Given the description of an element on the screen output the (x, y) to click on. 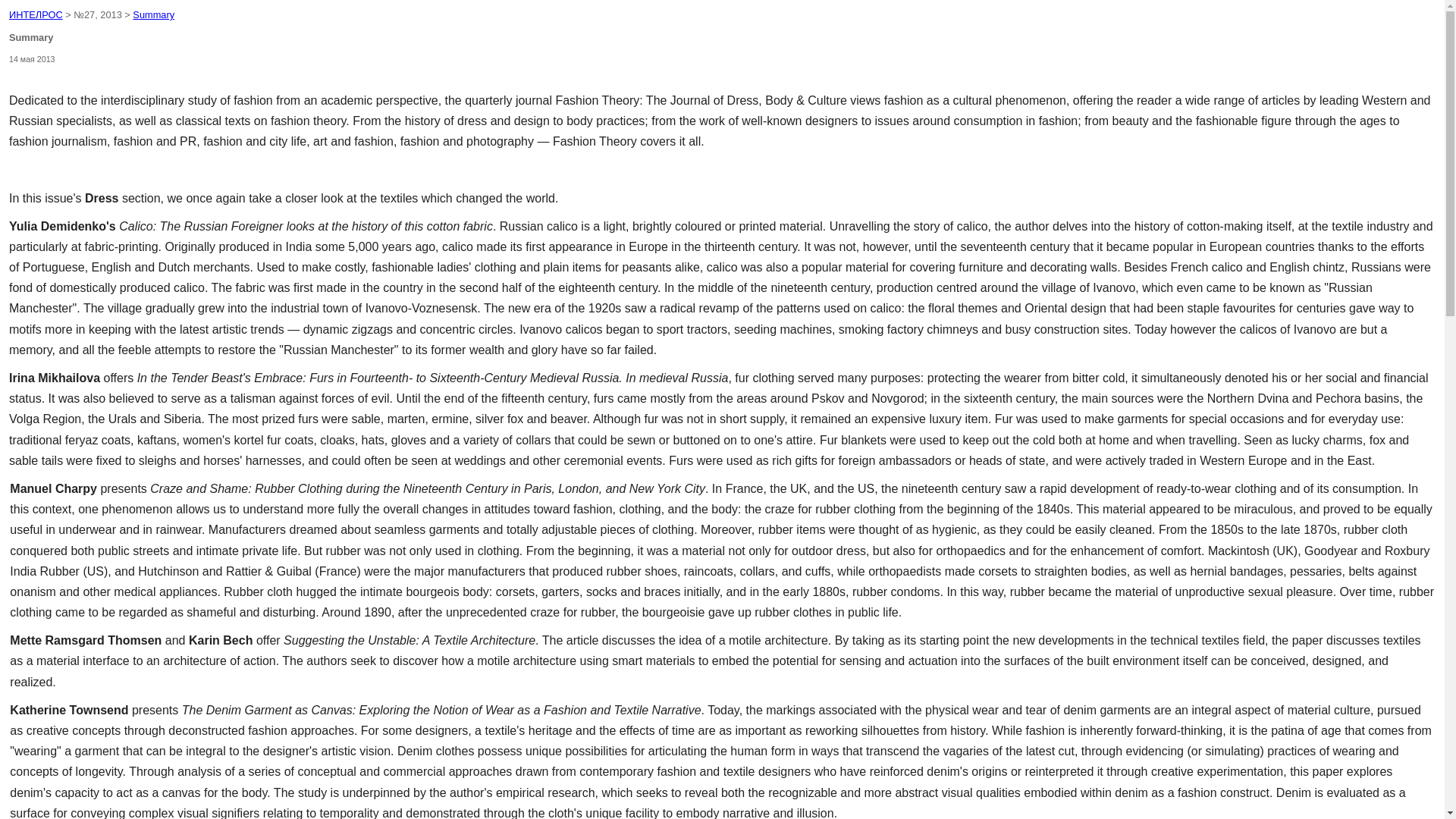
Summary (153, 14)
